Given the description of an element on the screen output the (x, y) to click on. 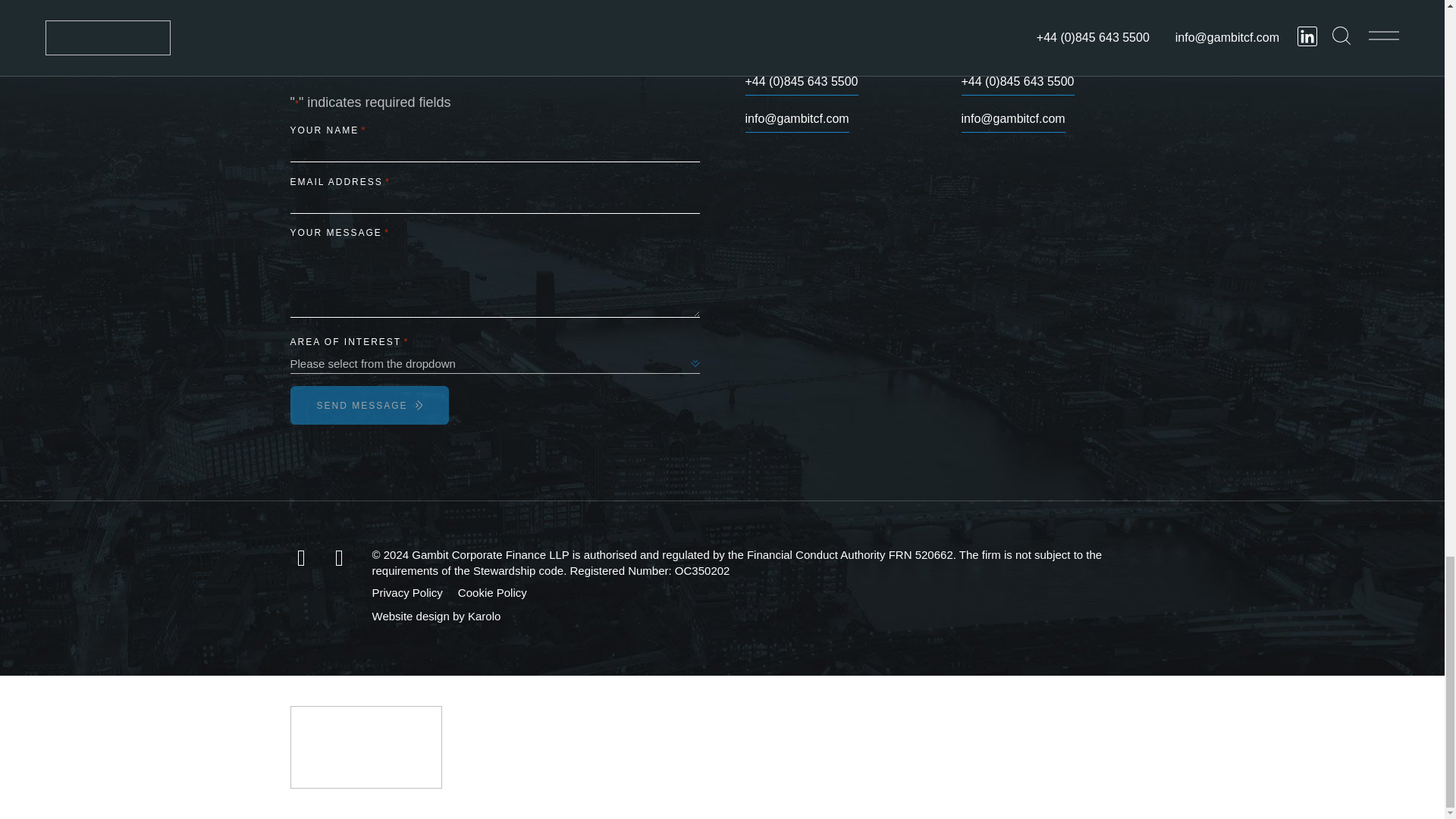
Website design by Karolo (435, 615)
Cookie Policy (492, 592)
SEND MESSAGE (368, 405)
Privacy Policy (406, 592)
